Given the description of an element on the screen output the (x, y) to click on. 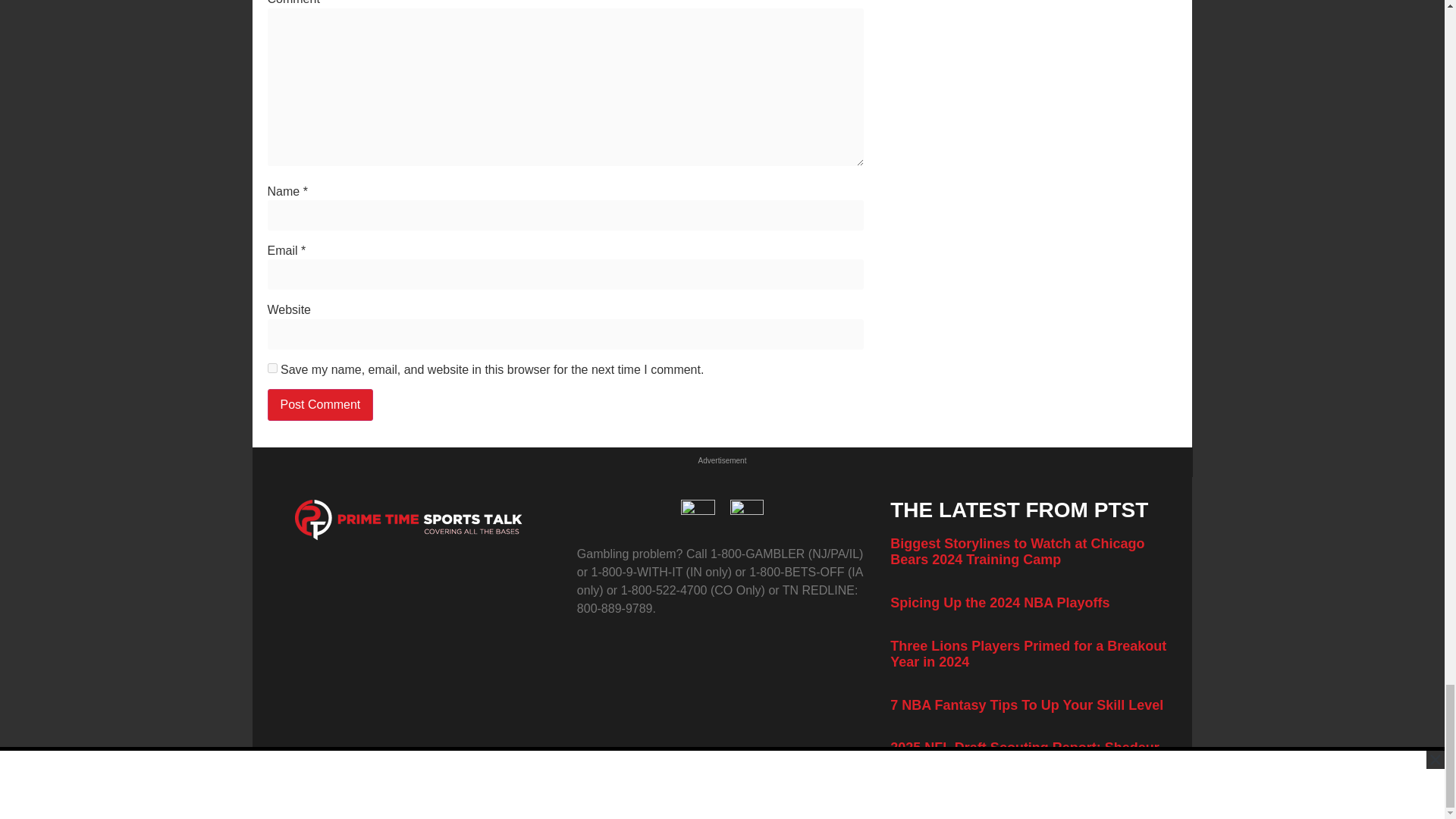
yes (271, 368)
Post Comment (319, 404)
